Given the description of an element on the screen output the (x, y) to click on. 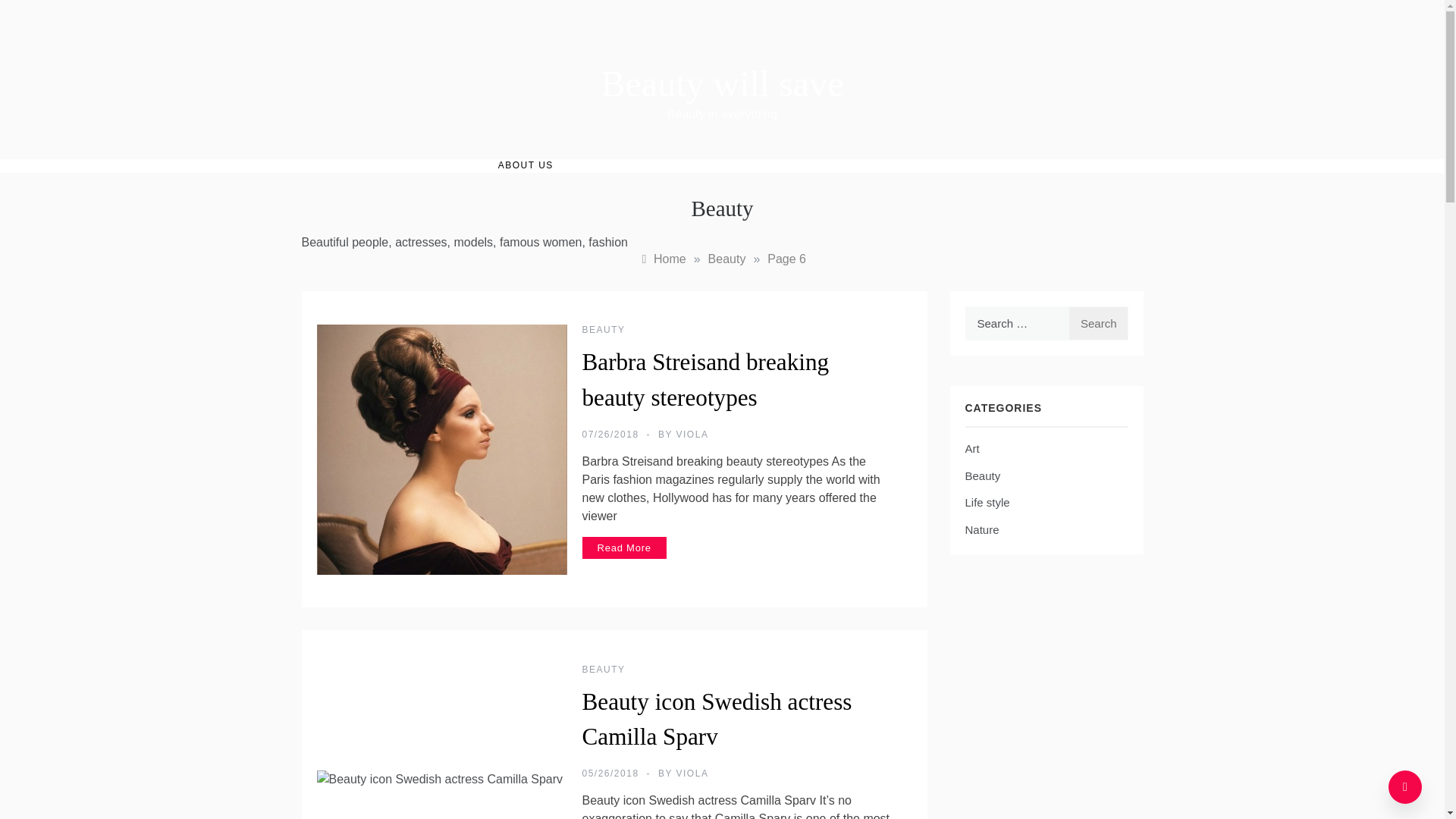
Beauty icon Swedish actress Camilla Sparv (716, 719)
Page 6 (786, 258)
Search (1098, 323)
Search (1098, 323)
Beauty will save (722, 83)
VIOLA (693, 434)
VIOLA (693, 773)
Home (662, 258)
Beauty (726, 258)
BEAUTY (604, 329)
